Given the description of an element on the screen output the (x, y) to click on. 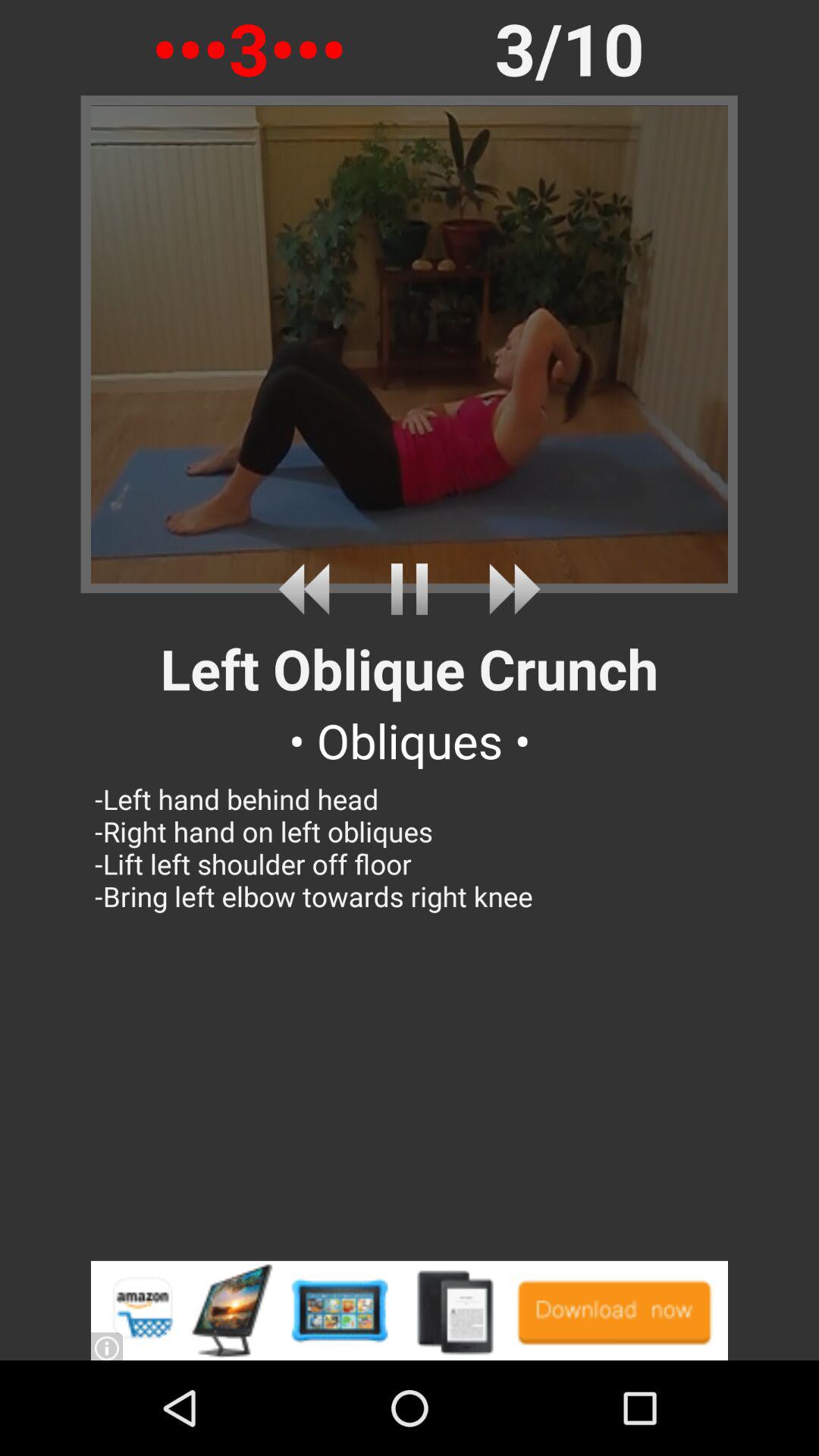
fast forward (508, 589)
